Given the description of an element on the screen output the (x, y) to click on. 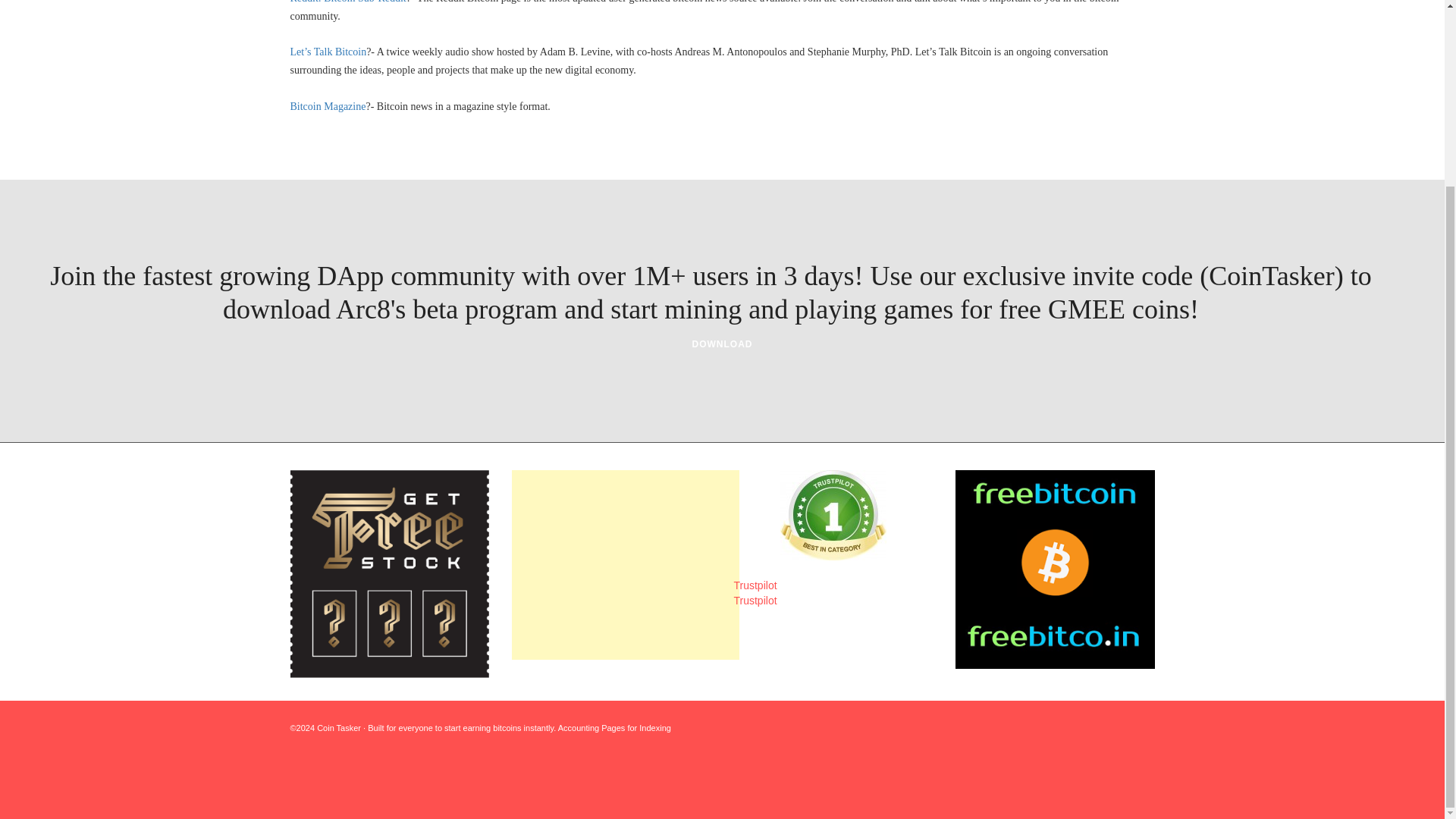
Bitcoin Magazine (327, 106)
Let's Talk Bitcoin (327, 51)
Bitcoin Sub-Reddit (347, 2)
